Given the description of an element on the screen output the (x, y) to click on. 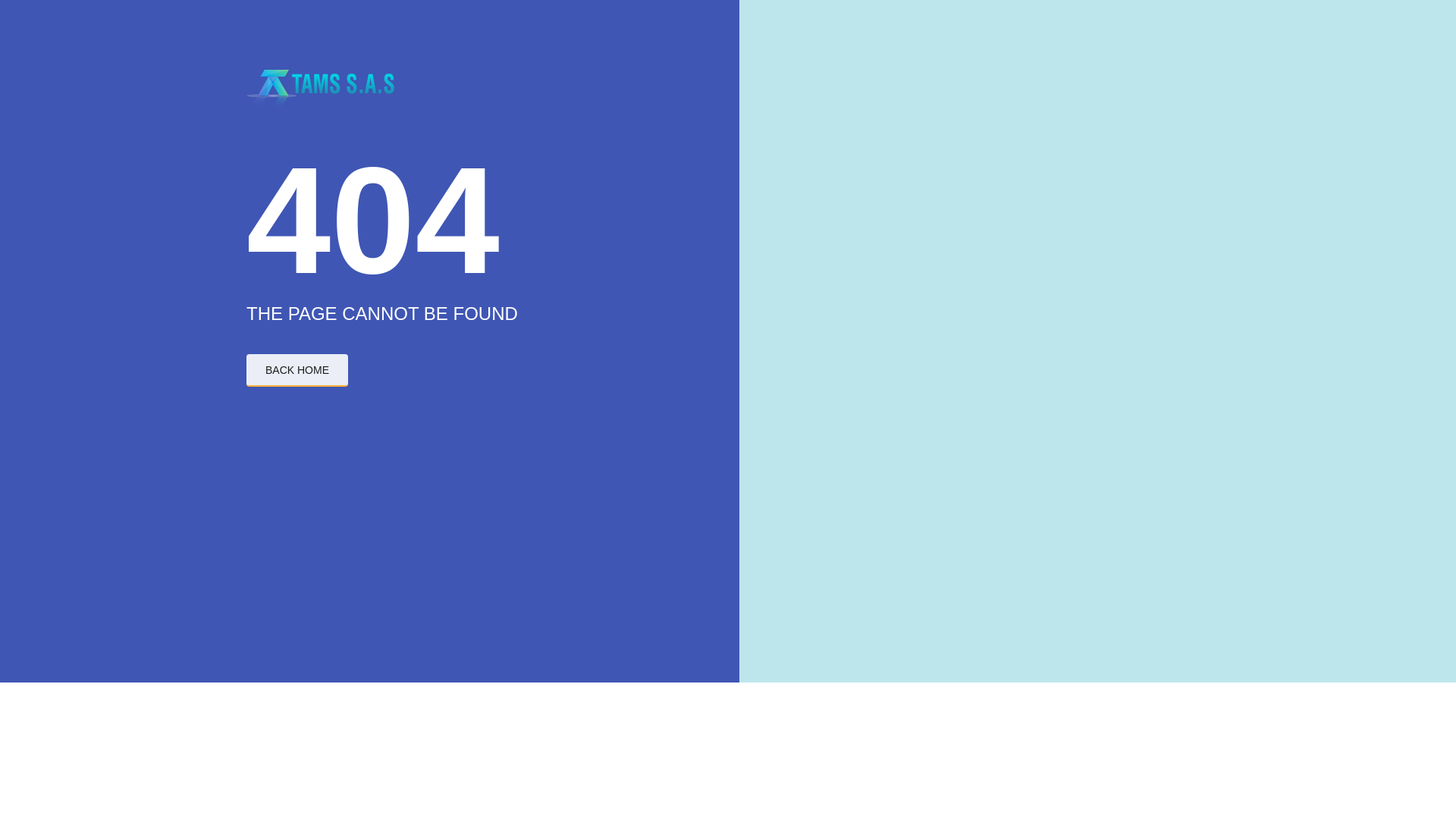
BACK HOME (296, 369)
